Given the description of an element on the screen output the (x, y) to click on. 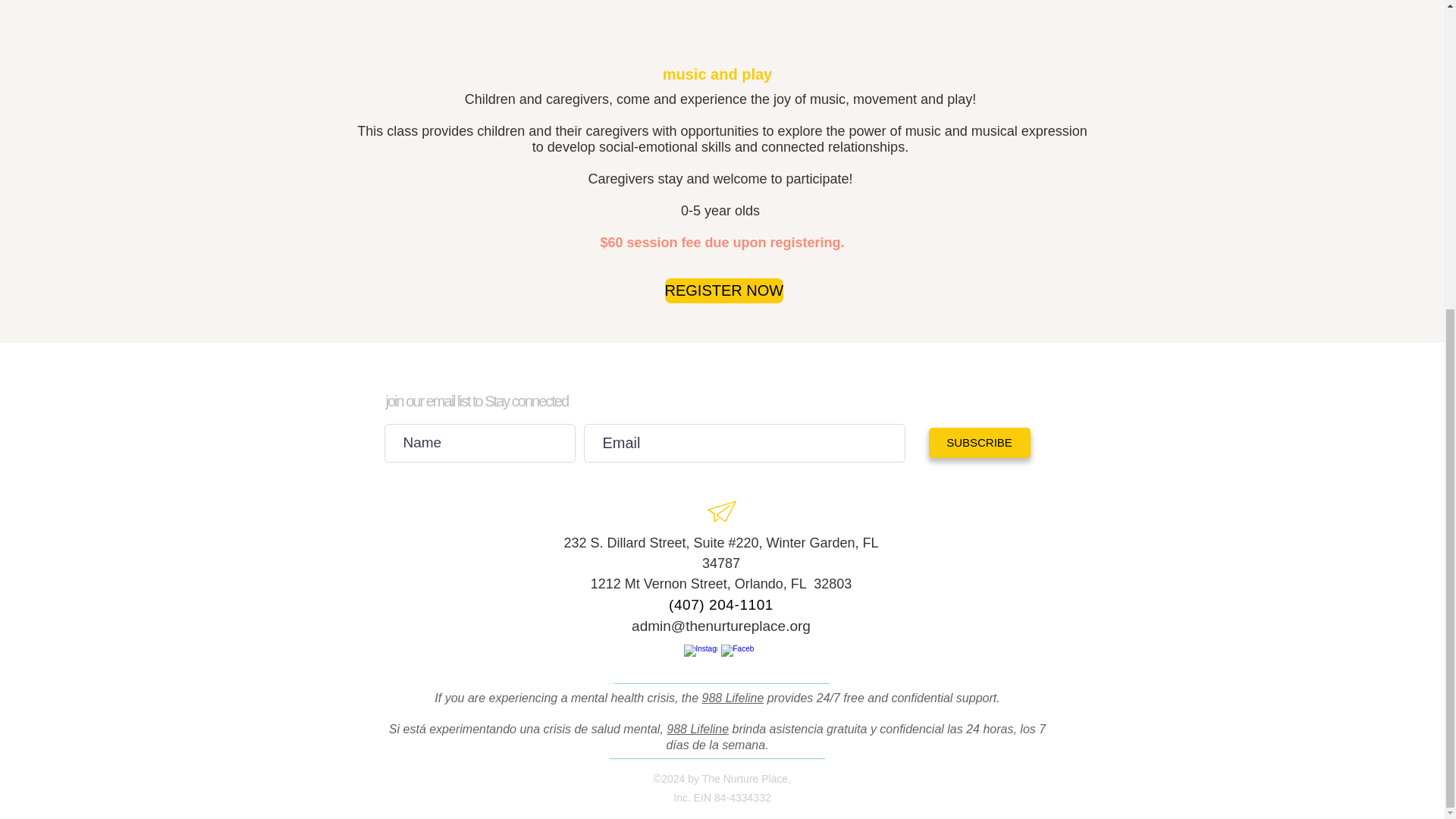
988 Lifeline (697, 728)
REGISTER NOW (723, 290)
988 Lifeline (732, 697)
SUBSCRIBE (978, 442)
